Given the description of an element on the screen output the (x, y) to click on. 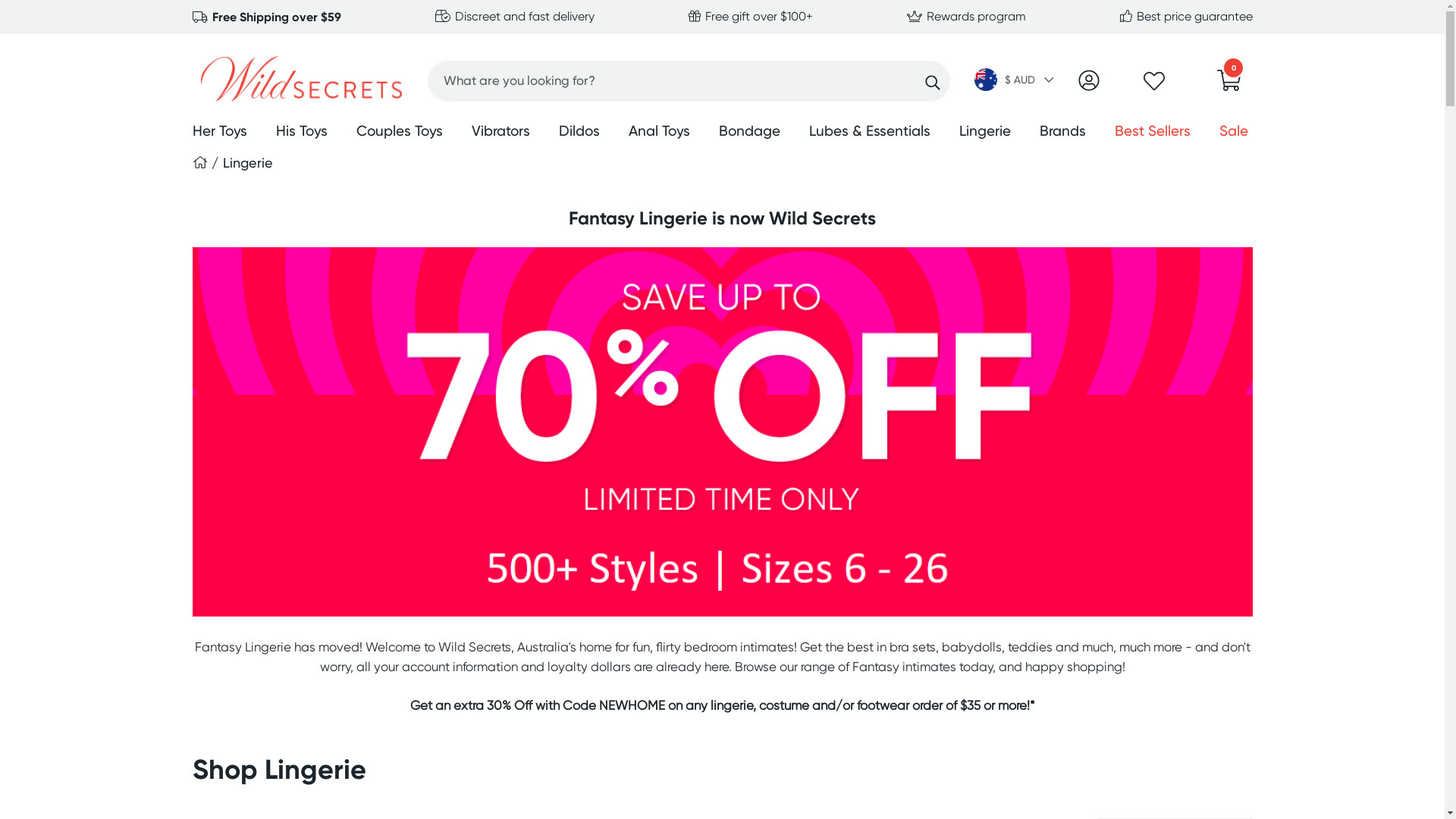
Best Sellers Element type: text (1152, 132)
Rewards program Element type: text (966, 16)
Vibrators Element type: text (500, 132)
Discreet and fast delivery Element type: text (514, 16)
Dildos Element type: text (578, 132)
Sale Element type: text (1233, 132)
0 Element type: text (1229, 84)
Her Toys Element type: text (219, 132)
$ AUD   Element type: text (1014, 81)
Couples Toys Element type: text (399, 132)
Lubes & Essentials Element type: text (868, 132)
Lingerie Element type: text (984, 132)
Brands Element type: text (1061, 132)
His Toys Element type: text (301, 132)
Bondage Element type: text (749, 132)
Lingerie Element type: text (247, 162)
Free gift over $100+ Element type: text (750, 16)
Anal Toys Element type: text (658, 132)
Best price guarantee Element type: text (1185, 16)
